Given the description of an element on the screen output the (x, y) to click on. 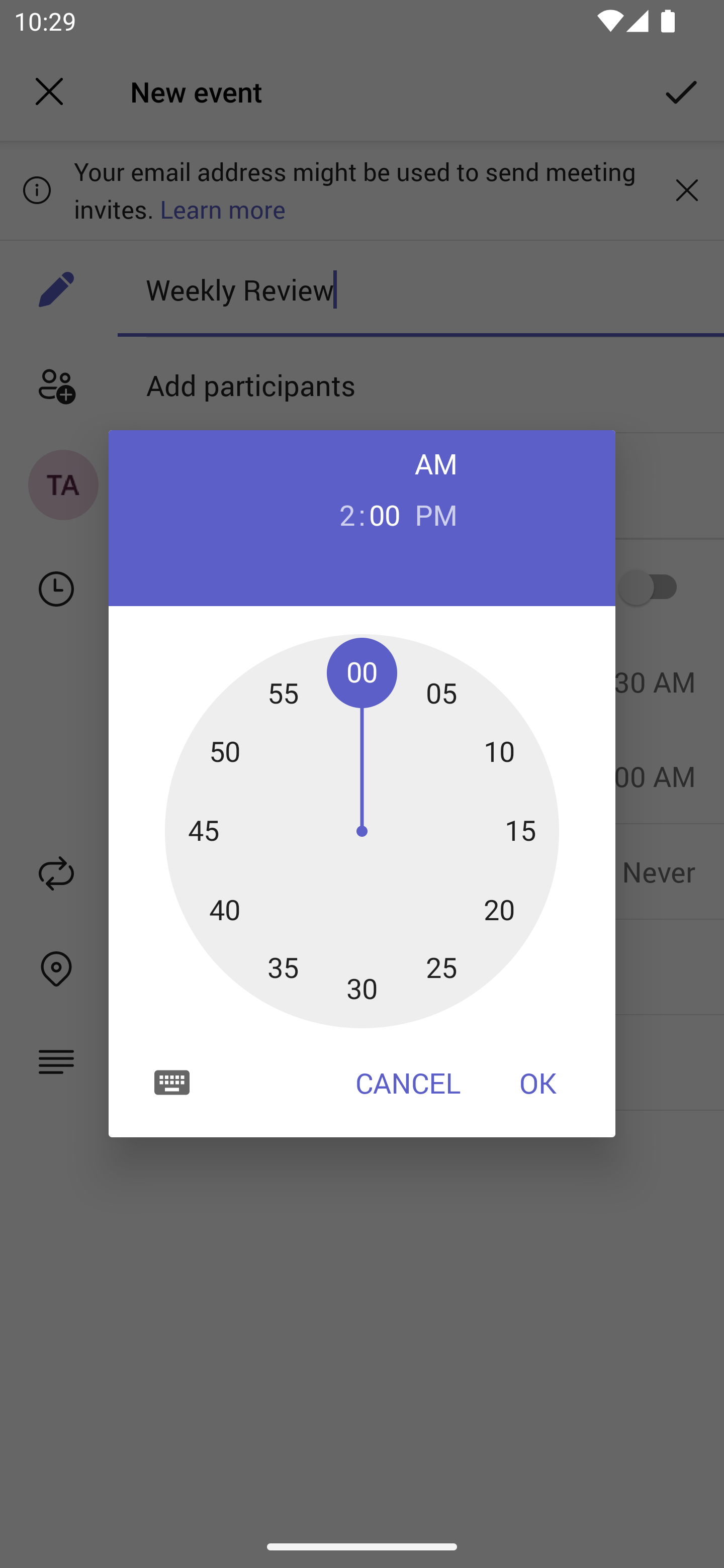
AM (435, 463)
PM (435, 514)
2 (338, 514)
00 (384, 514)
CANCEL (407, 1082)
OK (537, 1082)
Switch to text input mode for the time input. (171, 1081)
